Given the description of an element on the screen output the (x, y) to click on. 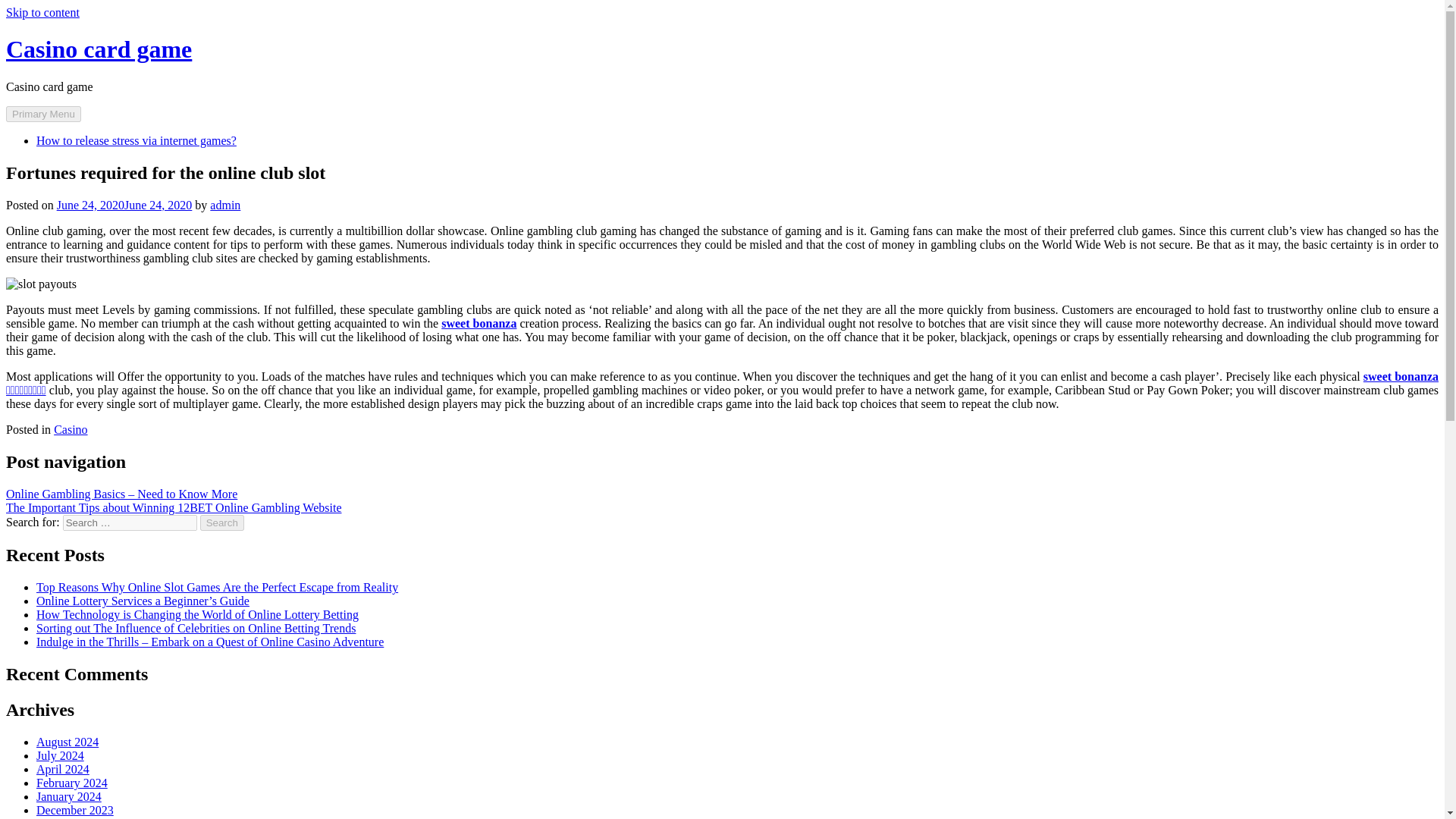
sweet bonanza (478, 323)
April 2024 (62, 768)
Primary Menu (43, 114)
April 2023 (62, 818)
Search (222, 521)
July 2024 (60, 755)
Casino (70, 429)
February 2024 (71, 782)
